Given the description of an element on the screen output the (x, y) to click on. 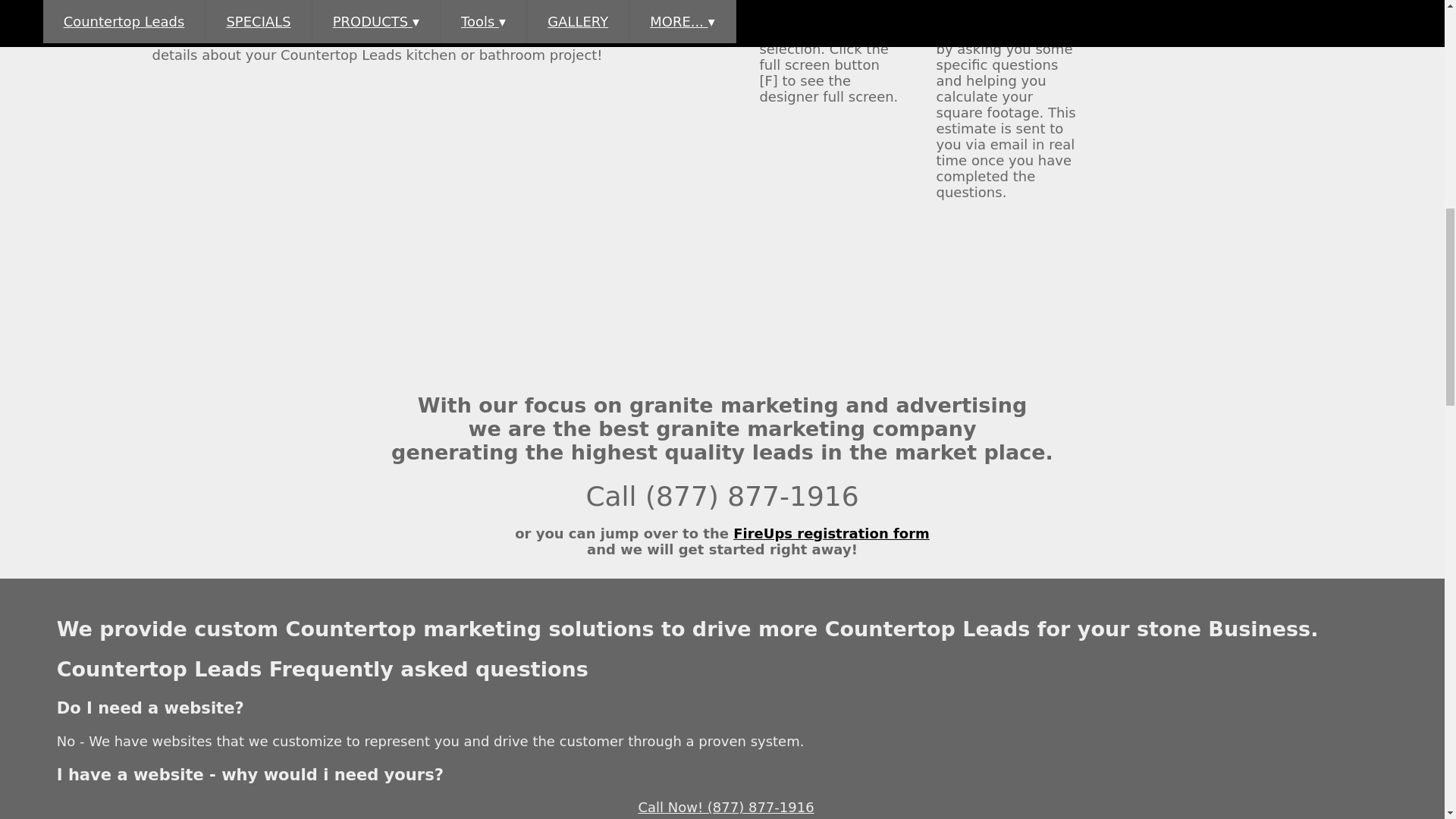
Contact Us Countertop Leads (1151, 3)
FireUps registration form (831, 533)
Contact US (1151, 3)
